Given the description of an element on the screen output the (x, y) to click on. 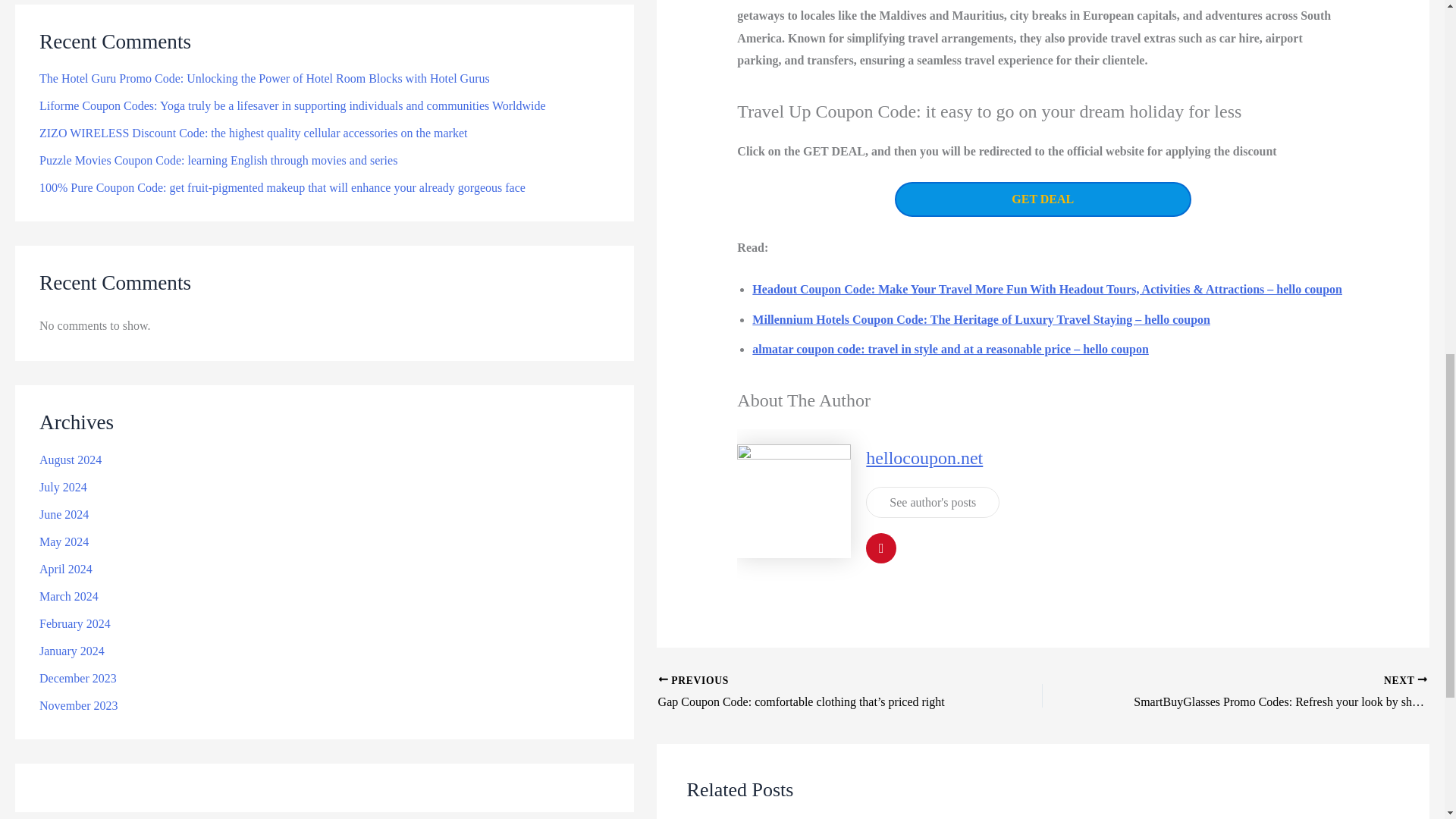
April 2024 (66, 0)
See author's posts (932, 502)
hellocoupon.net (924, 457)
November 2023 (78, 131)
February 2024 (74, 49)
March 2024 (69, 21)
GET DEAL (1043, 199)
January 2024 (71, 76)
December 2023 (77, 103)
